Given the description of an element on the screen output the (x, y) to click on. 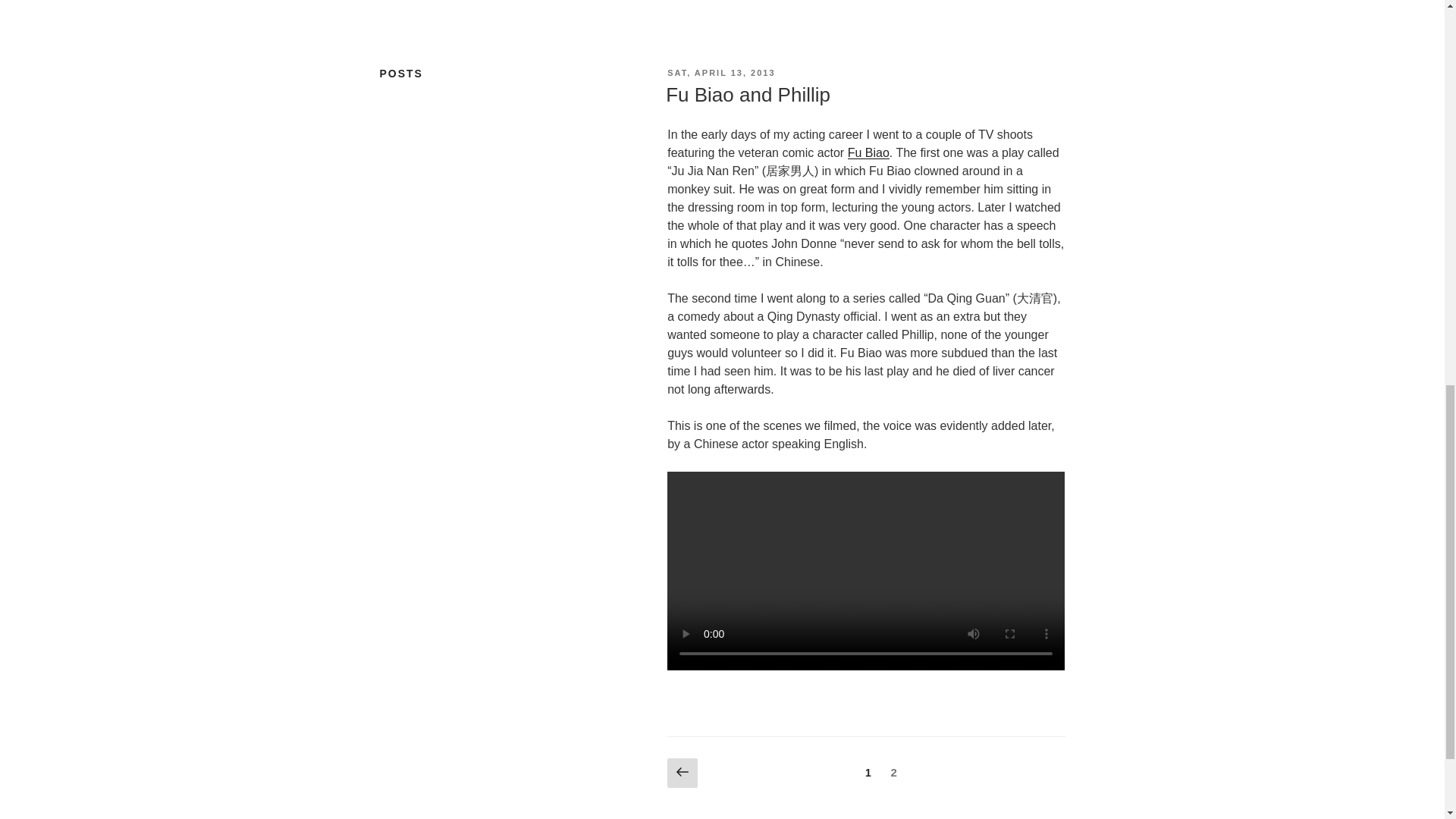
Fu Biao and Phillip (747, 94)
Previous page (681, 773)
Fu Biao (868, 152)
SAT, APRIL 13, 2013 (720, 71)
